Given the description of an element on the screen output the (x, y) to click on. 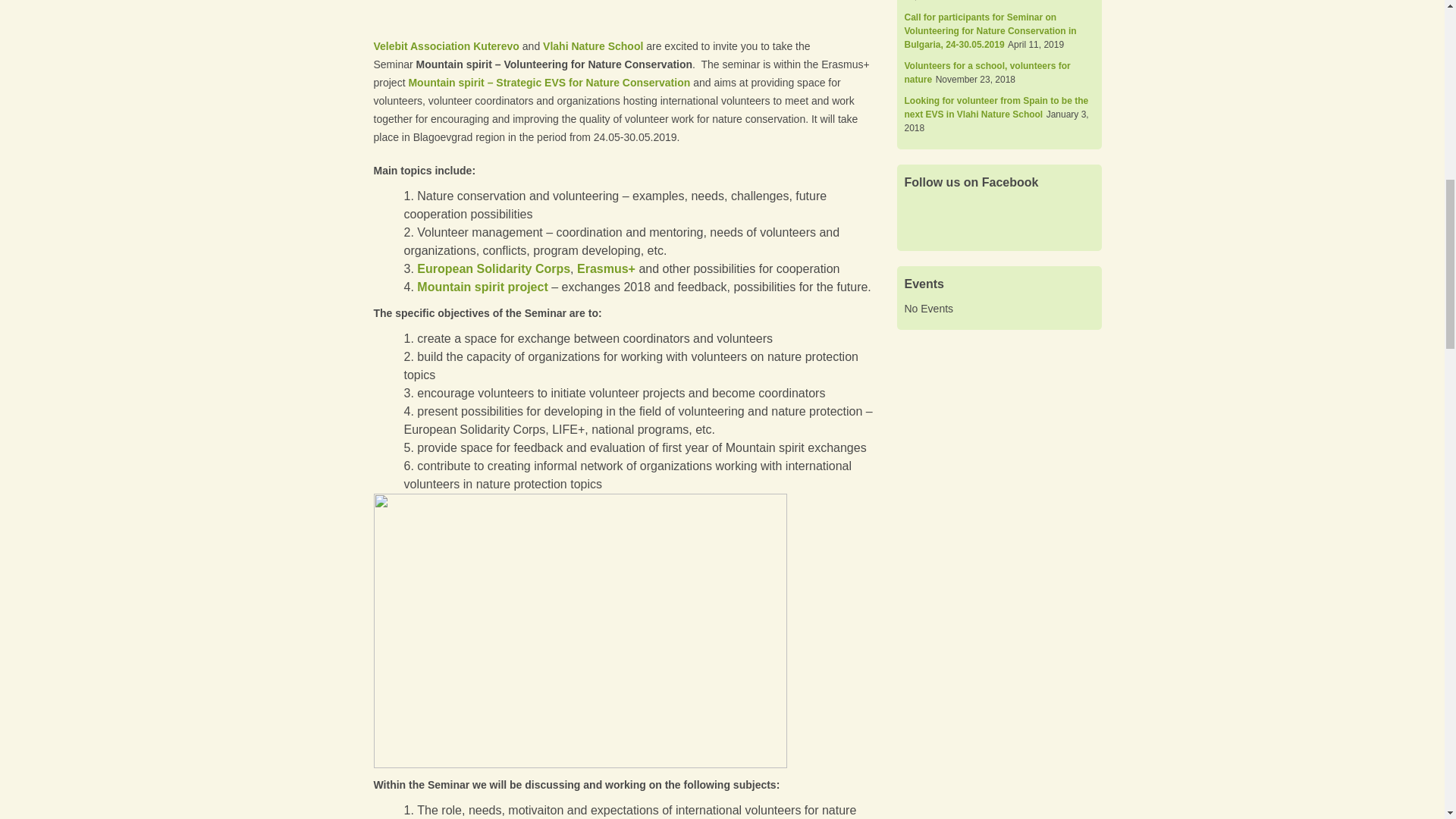
Velebit Association Kuterevo (445, 46)
Vlahi Nature School (593, 46)
Volunteers for a school, volunteers for nature (987, 72)
European Solidarity Corps (493, 268)
Mountain spirit project (481, 286)
